Given the description of an element on the screen output the (x, y) to click on. 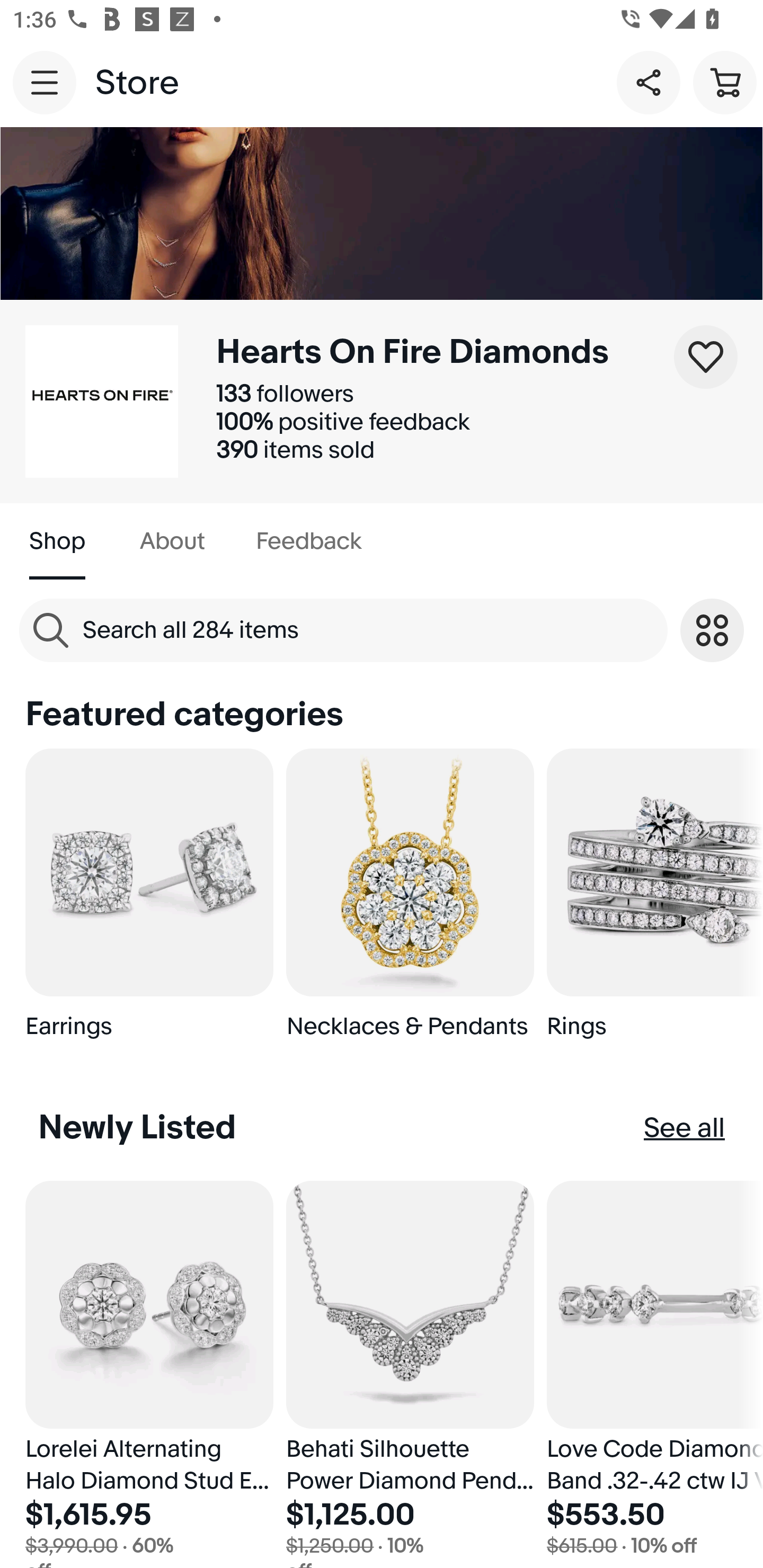
Main navigation, open (44, 82)
Share this page (648, 81)
Cart button shopping cart (724, 81)
Save this seller hearts_on_fire (705, 356)
About (172, 541)
Feedback (308, 541)
Search all 284 items (343, 629)
Shop by category (711, 629)
Earrings Earrings Earrings (149, 901)
Rings Rings Rings (655, 901)
See all (683, 1127)
